Given the description of an element on the screen output the (x, y) to click on. 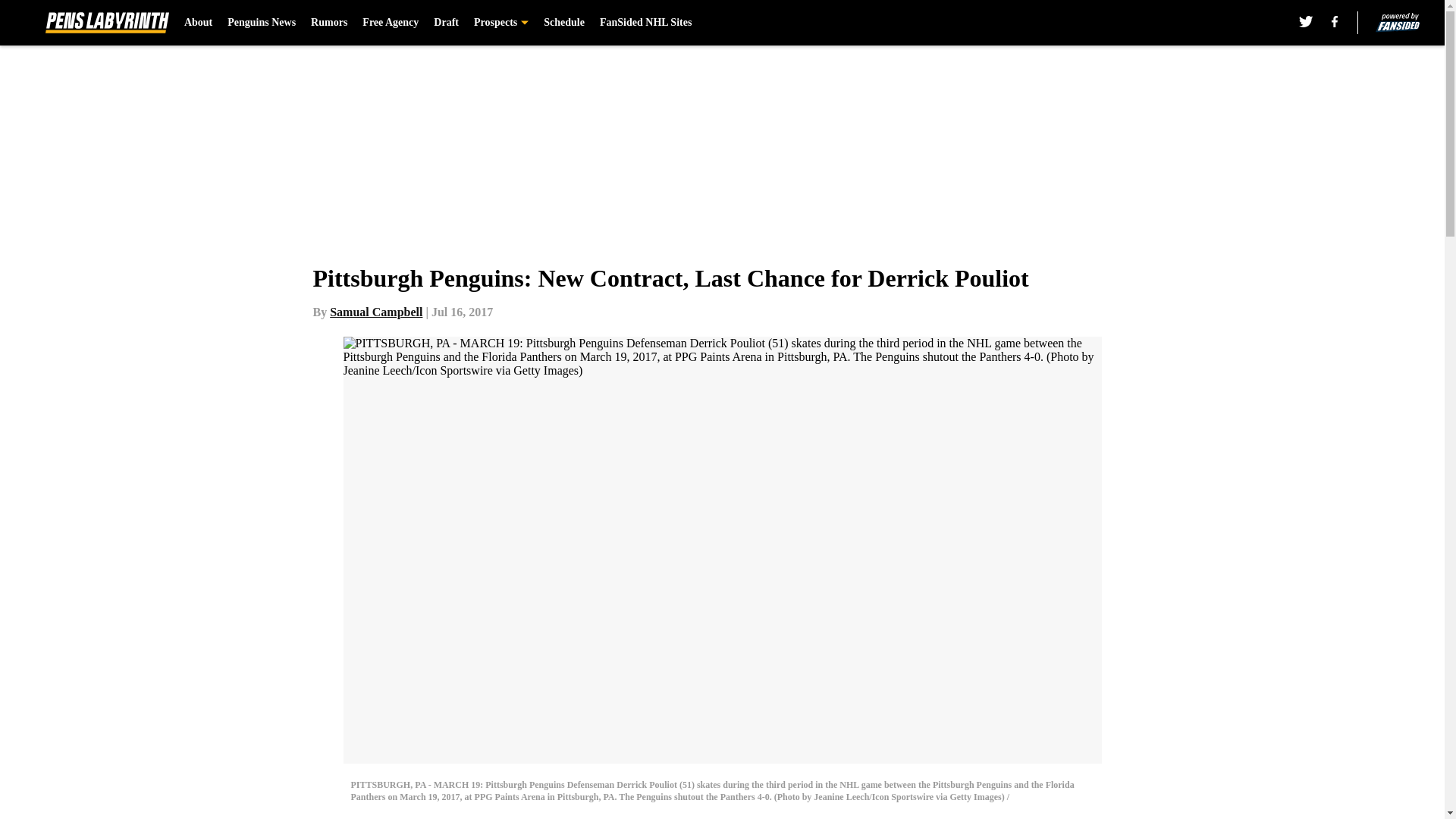
Free Agency (390, 22)
Draft (445, 22)
Rumors (329, 22)
Samual Campbell (376, 311)
About (198, 22)
Schedule (564, 22)
Penguins News (261, 22)
FanSided NHL Sites (645, 22)
